Given the description of an element on the screen output the (x, y) to click on. 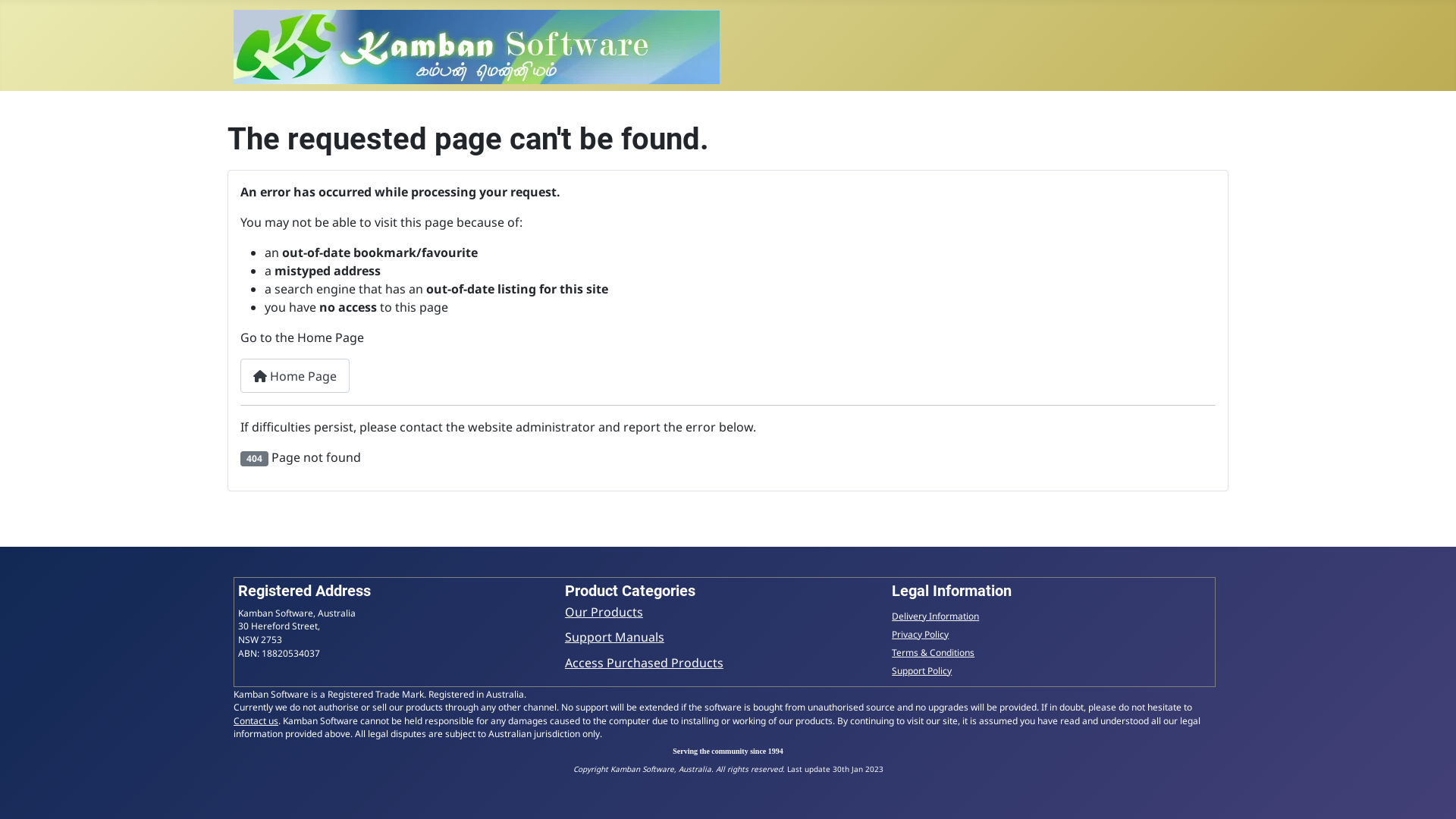
Terms & Conditions Element type: text (932, 652)
Delivery Information Element type: text (935, 615)
Contact us Element type: text (255, 720)
Support Manuals Element type: text (614, 636)
Home Page Element type: text (294, 375)
Our Products Element type: text (603, 611)
Support Policy Element type: text (921, 670)
Privacy Policy Element type: text (919, 633)
Access Purchased Products Element type: text (643, 662)
